Given the description of an element on the screen output the (x, y) to click on. 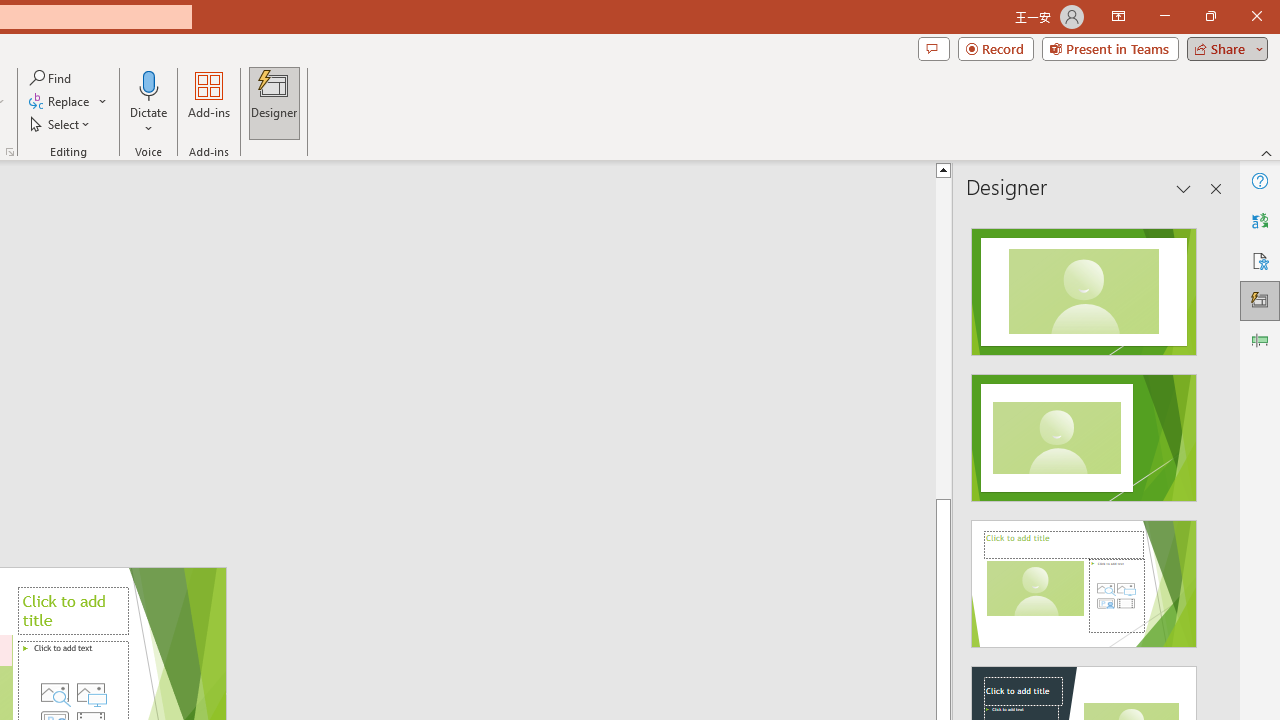
Designer (274, 102)
Designer (1260, 300)
Close pane (1215, 188)
Recommended Design: Design Idea (1083, 286)
Line up (1011, 169)
Design Idea (1083, 577)
Format Object... (9, 151)
Pictures (91, 692)
Stock Images (54, 692)
Replace... (60, 101)
Select (61, 124)
